Given the description of an element on the screen output the (x, y) to click on. 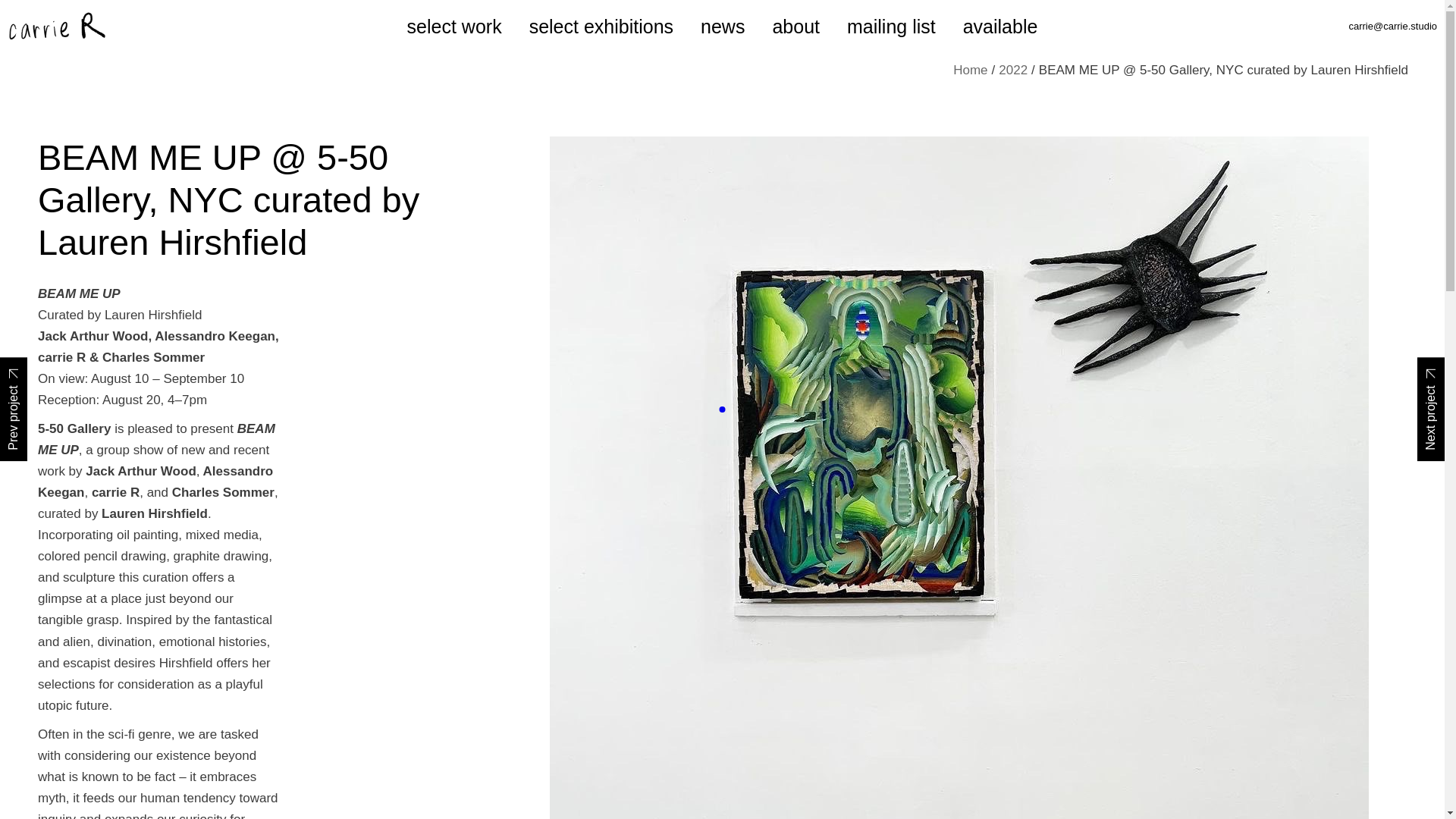
Home (970, 69)
select work (454, 26)
Prev project (13, 409)
2022 (1012, 69)
about (795, 26)
select exhibitions (600, 26)
news (722, 26)
available (1000, 26)
mailing list (891, 26)
